Given the description of an element on the screen output the (x, y) to click on. 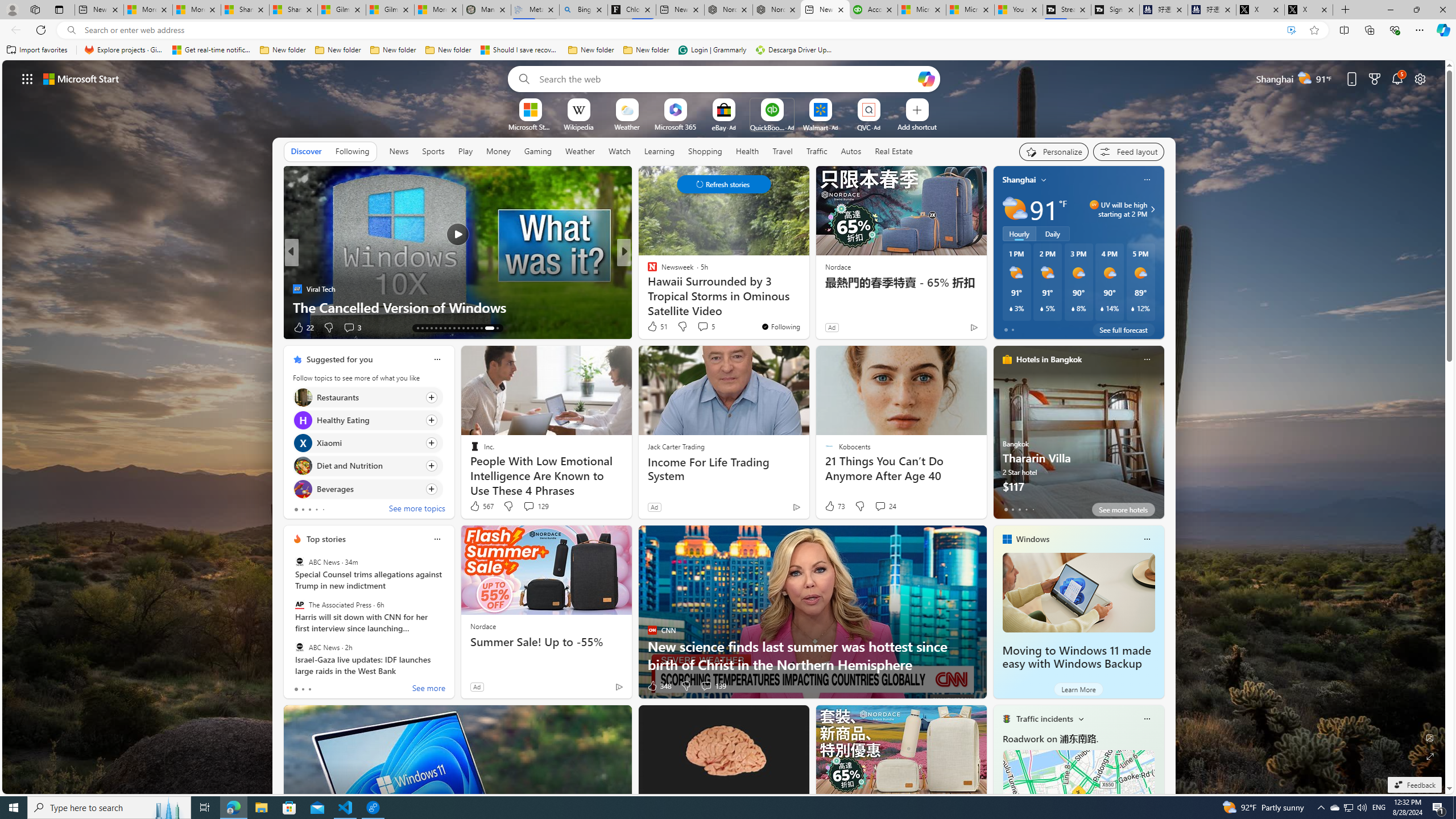
Class: control (723, 184)
Daily (1052, 233)
Traffic Title Traffic Light (1005, 718)
See full forecast (1123, 329)
AutomationID: tab-19 (426, 328)
Click to follow topic Xiaomi (367, 442)
Shopping (705, 151)
Wikipedia (578, 126)
Beverages (302, 488)
Income For Life Trading System (723, 469)
